Given the description of an element on the screen output the (x, y) to click on. 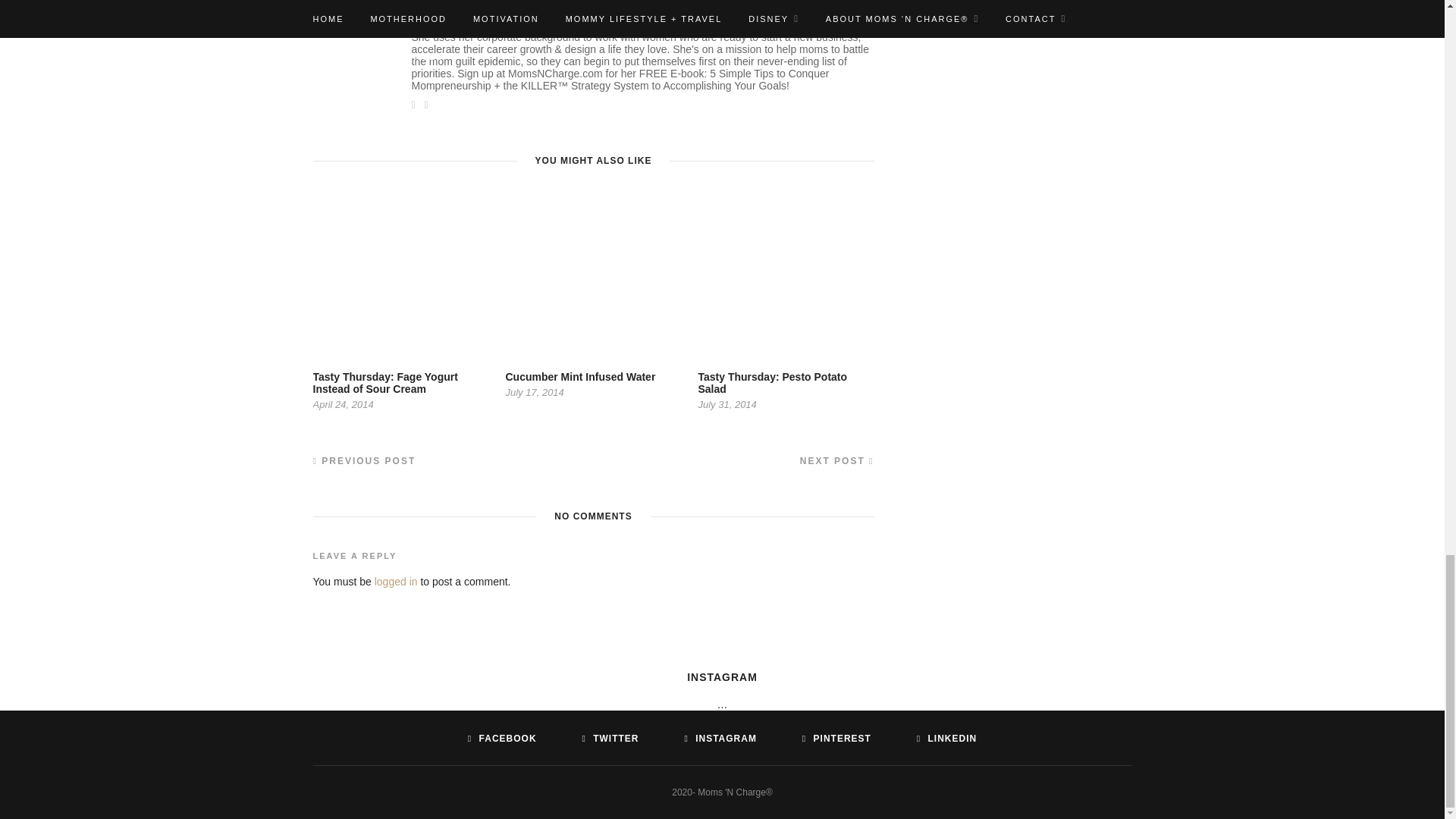
NEXT POST (837, 460)
Tasty Thursday: Fage Yogurt Instead of Sour Cream (385, 382)
Tasty Thursday: Pesto Potato Salad (772, 382)
PREVIOUS POST (363, 460)
Cucumber Mint Infused Water (580, 377)
